Given the description of an element on the screen output the (x, y) to click on. 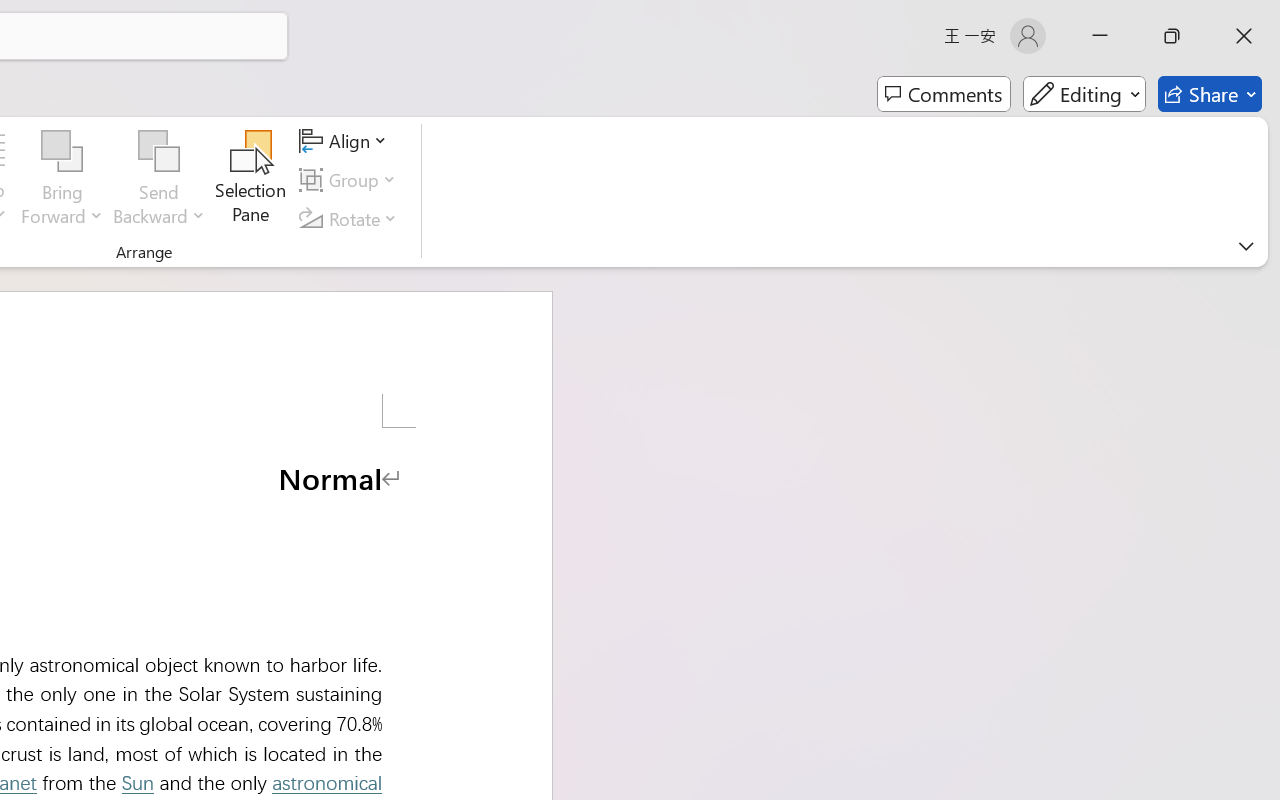
Send Backward (159, 179)
Group (351, 179)
Send Backward (159, 151)
